Given the description of an element on the screen output the (x, y) to click on. 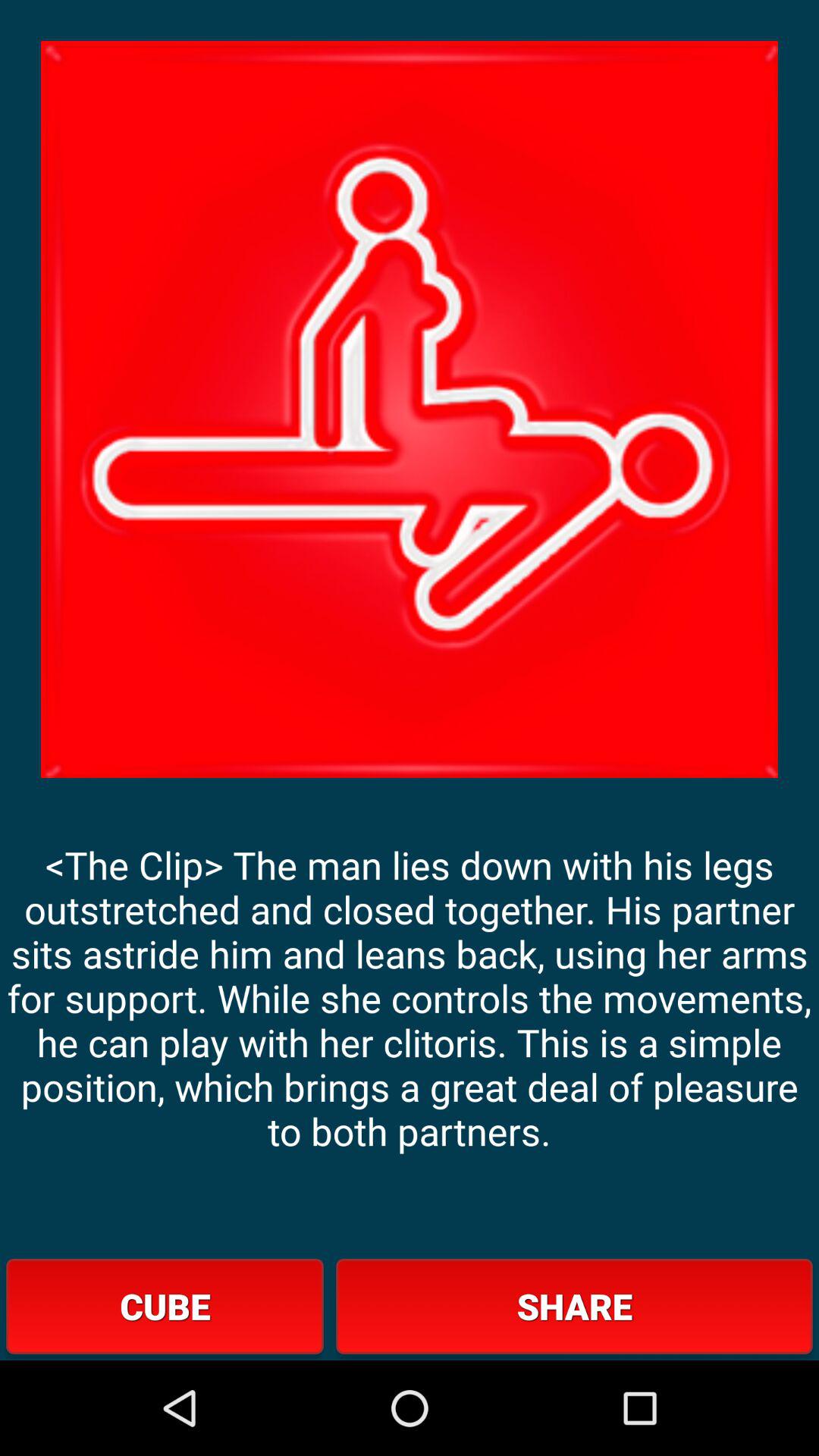
open icon below the the clip the app (164, 1306)
